Given the description of an element on the screen output the (x, y) to click on. 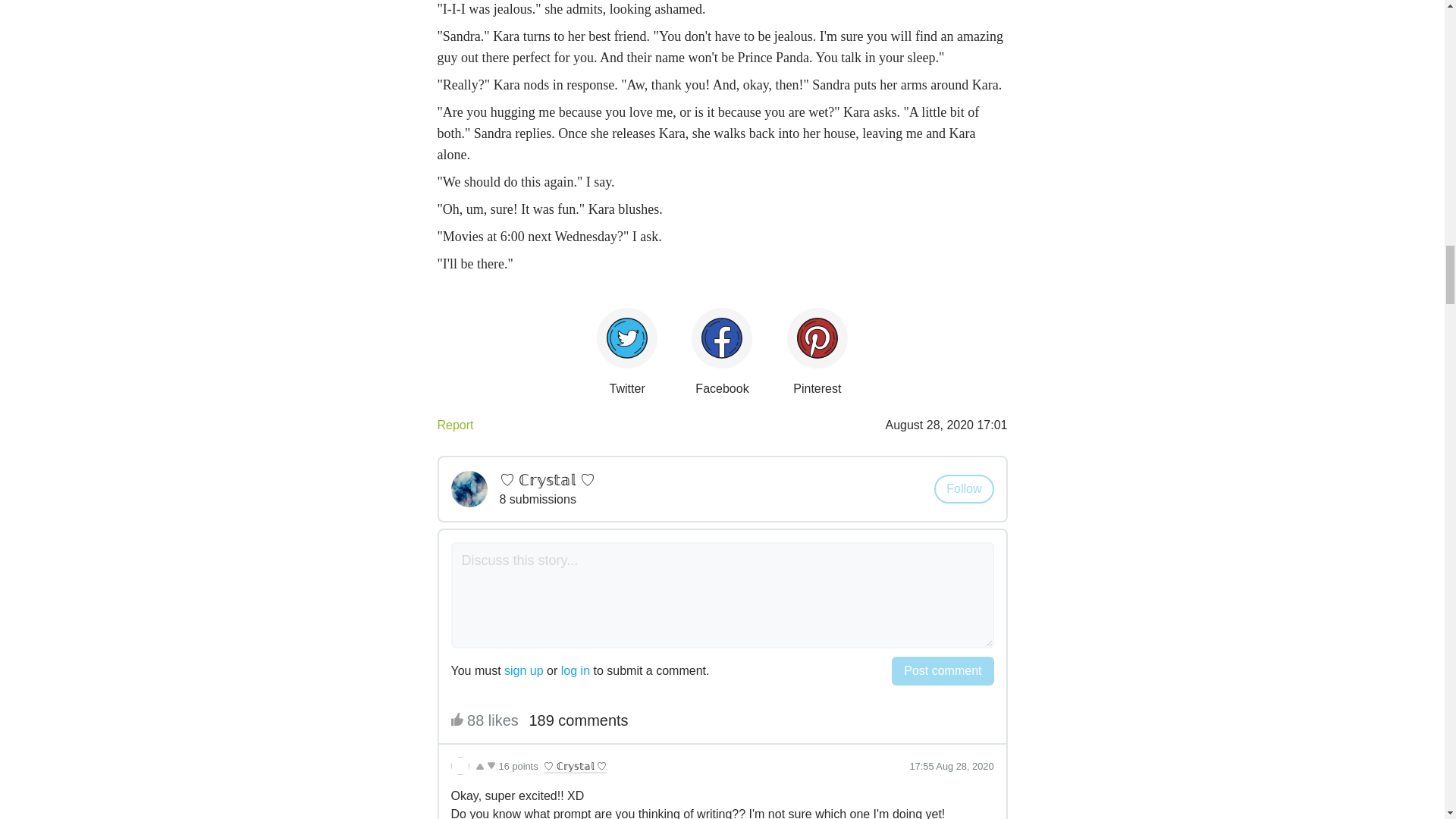
Post comment (941, 670)
